Given the description of an element on the screen output the (x, y) to click on. 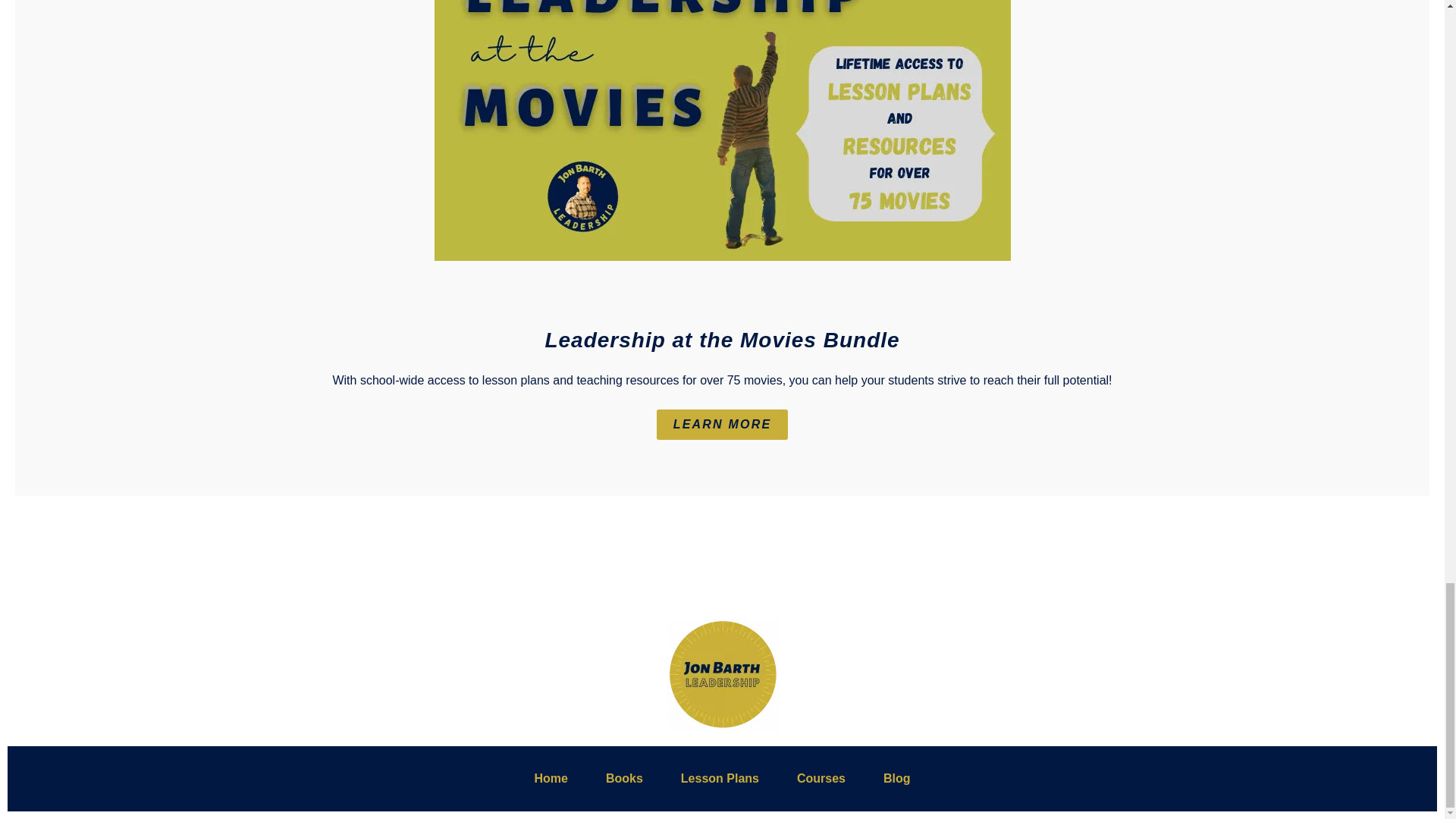
Home (550, 778)
Books (623, 778)
Blog (896, 778)
LEARN MORE (722, 424)
Courses (821, 778)
Lesson Plans (719, 778)
